Given the description of an element on the screen output the (x, y) to click on. 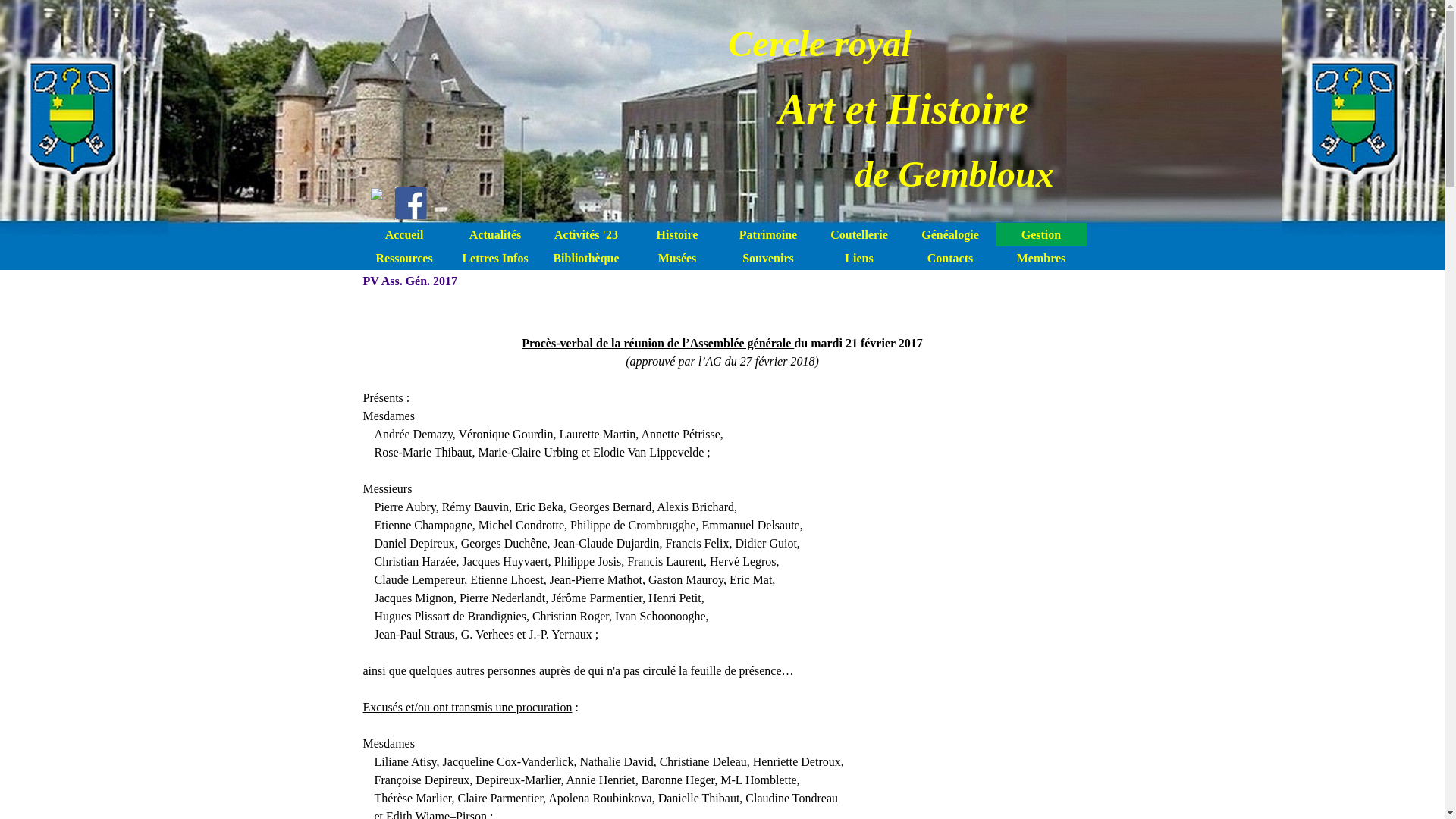
Ressources Element type: text (404, 257)
Contacts Element type: text (950, 257)
Lettres Infos Element type: text (495, 257)
Liens Element type: text (859, 257)
Membres Element type: text (1041, 257)
Souvenirs Element type: text (768, 257)
Accueil Element type: text (404, 234)
